Given the description of an element on the screen output the (x, y) to click on. 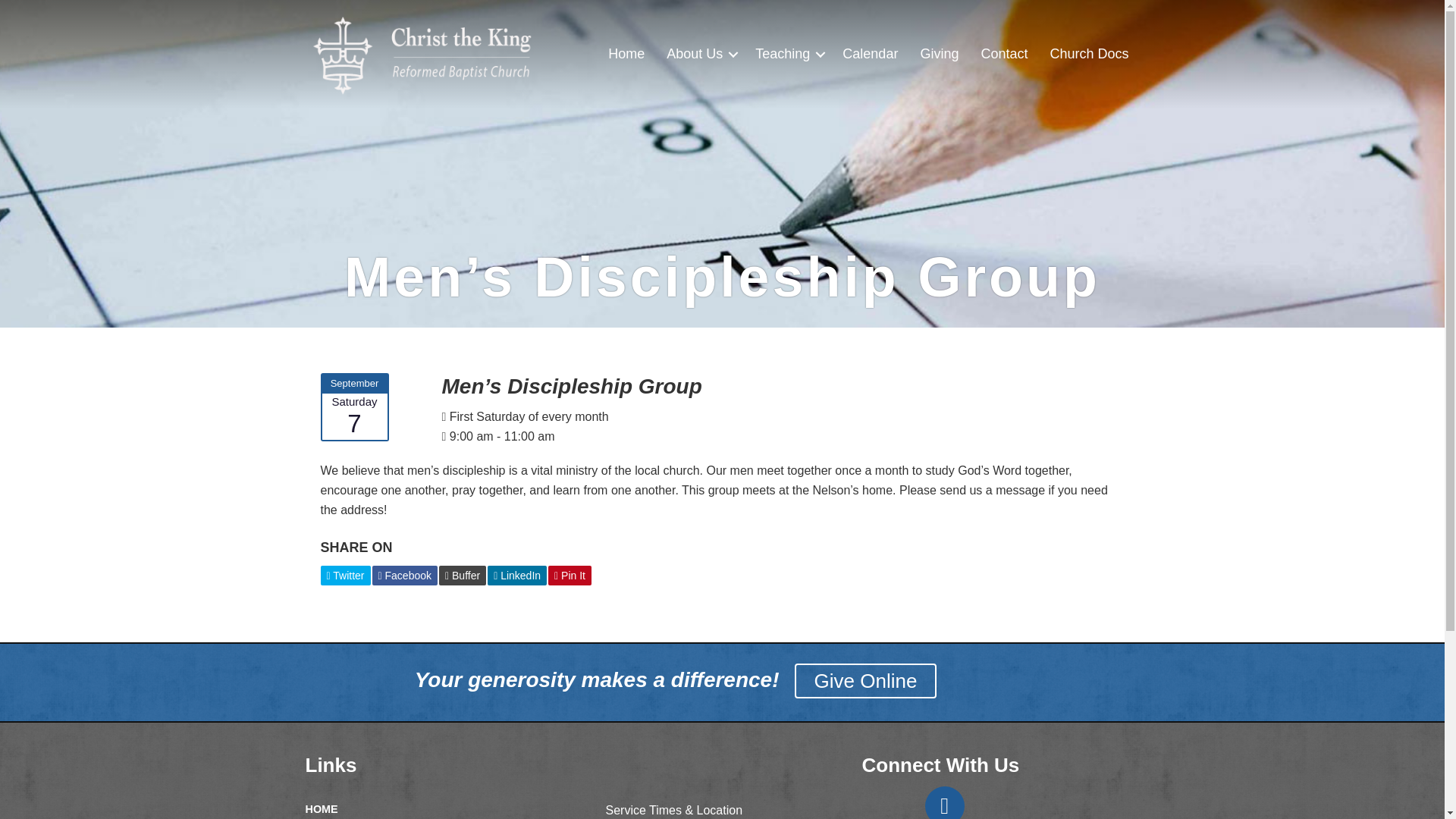
Contact (1003, 54)
Home (625, 54)
About Us (700, 54)
Give Online (865, 680)
Pin It (569, 575)
HOME (320, 808)
Facebook (404, 575)
Buffer (462, 575)
Church Docs (1088, 54)
Twitter (344, 575)
Teaching (787, 54)
Calendar (869, 54)
LinkedIn (517, 575)
Giving (938, 54)
CtK logo 750x200 white (434, 54)
